Given the description of an element on the screen output the (x, y) to click on. 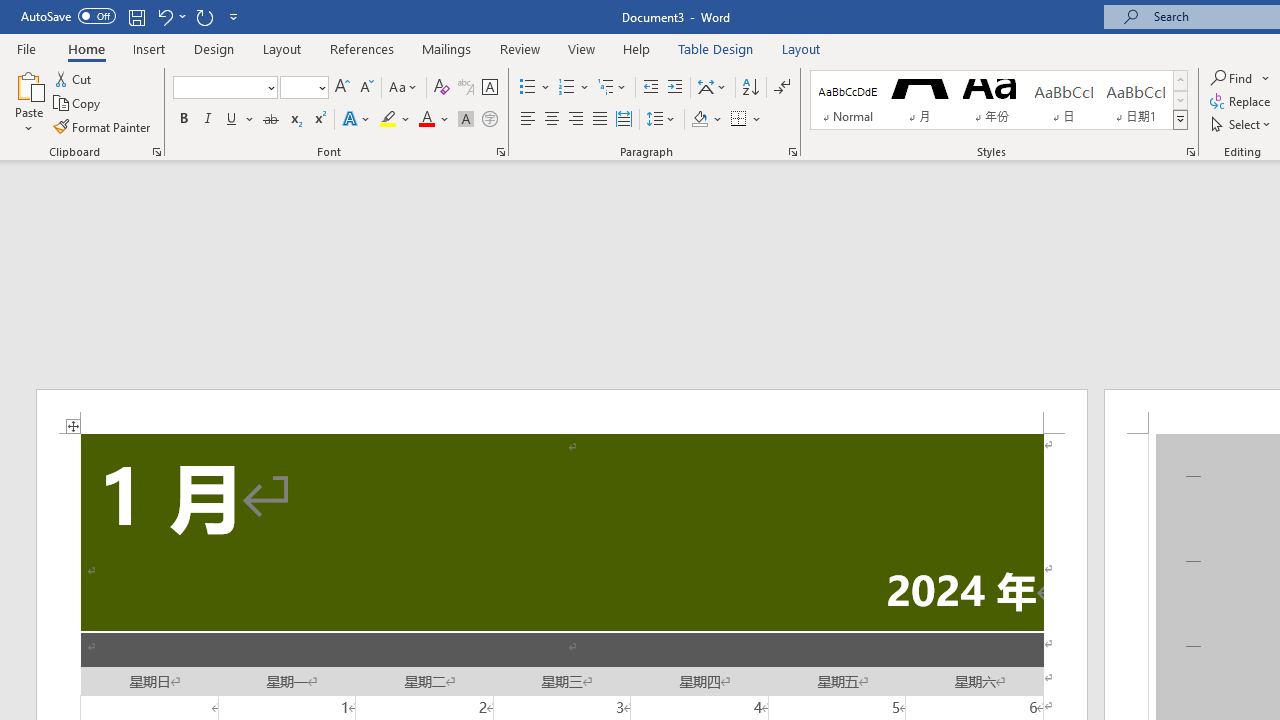
Header -Section 1- (561, 411)
Text Effects and Typography (357, 119)
Increase Indent (675, 87)
Styles... (1190, 151)
Copy (78, 103)
Table Design (715, 48)
Select (1242, 124)
